Given the description of an element on the screen output the (x, y) to click on. 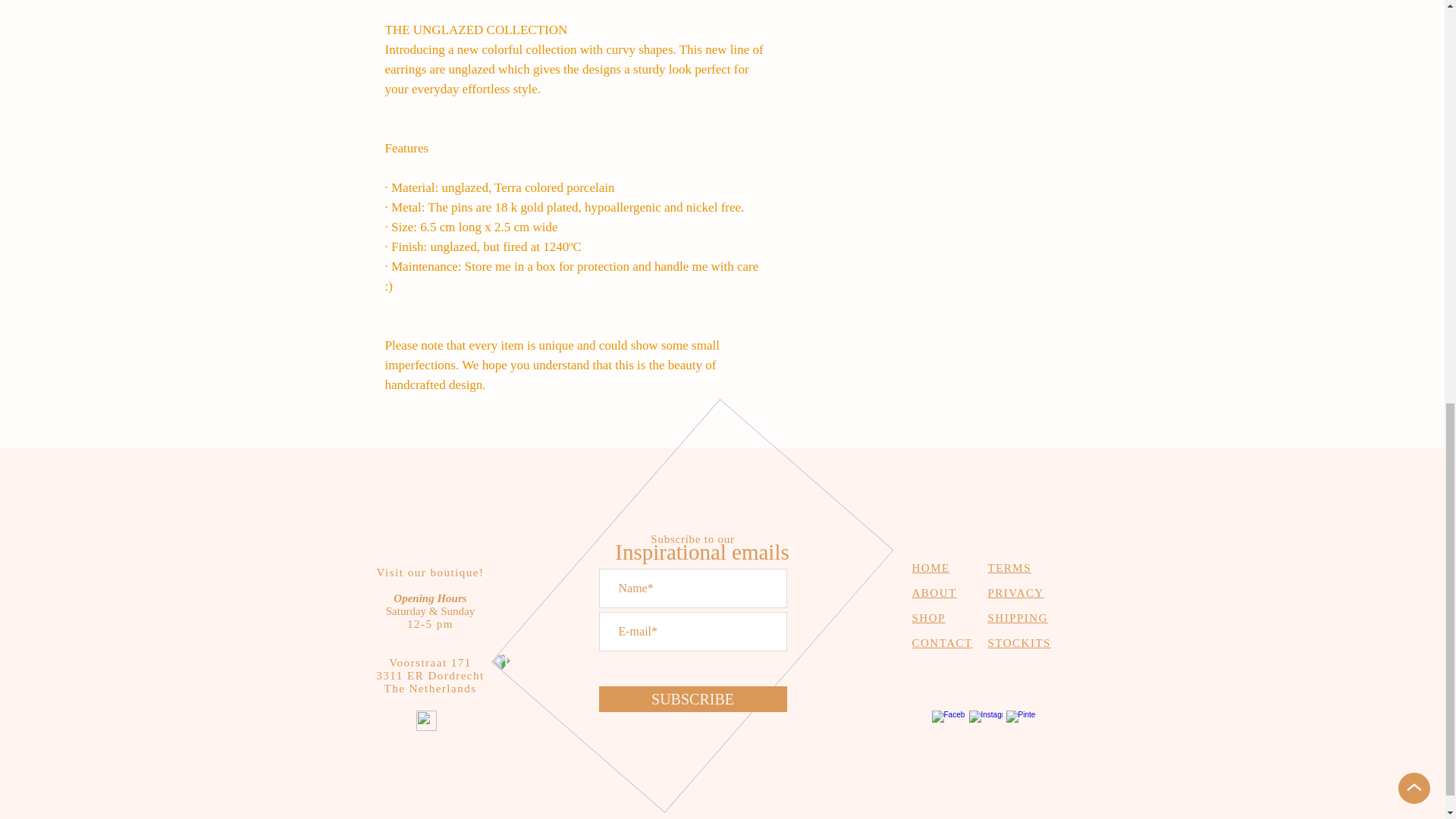
SUBSCRIBE (692, 698)
CONTACT (941, 643)
element.png (665, 513)
SHIPPING (1017, 617)
HOME (930, 567)
PRIVACY (1015, 592)
iconmonstr-location-1-240.png (424, 720)
TERMS (1008, 567)
ABOUT (933, 592)
STOCKITS (1018, 643)
SHOP (927, 617)
